Given the description of an element on the screen output the (x, y) to click on. 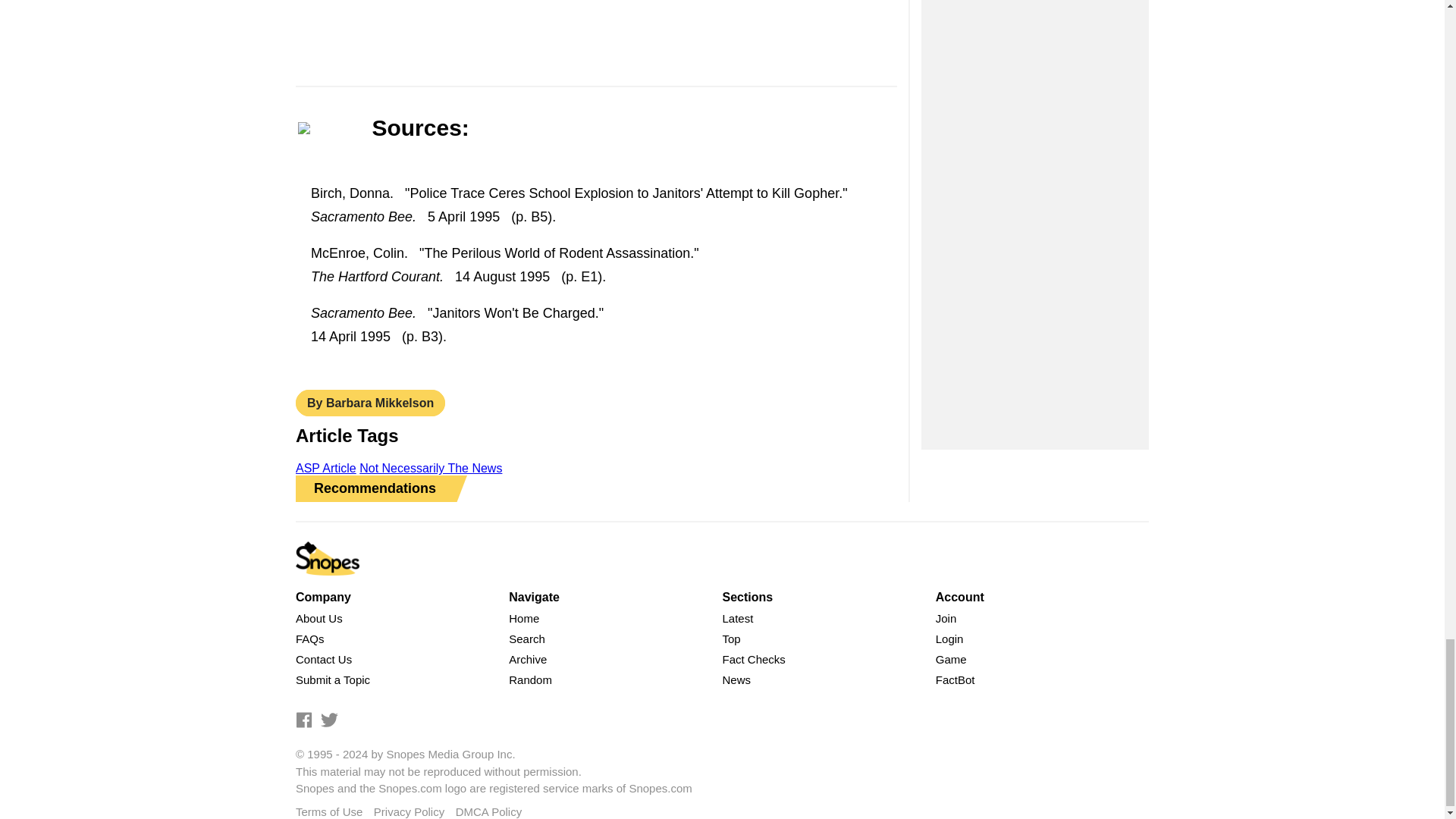
ASP Article (325, 468)
By Barbara Mikkelson (370, 402)
